Given the description of an element on the screen output the (x, y) to click on. 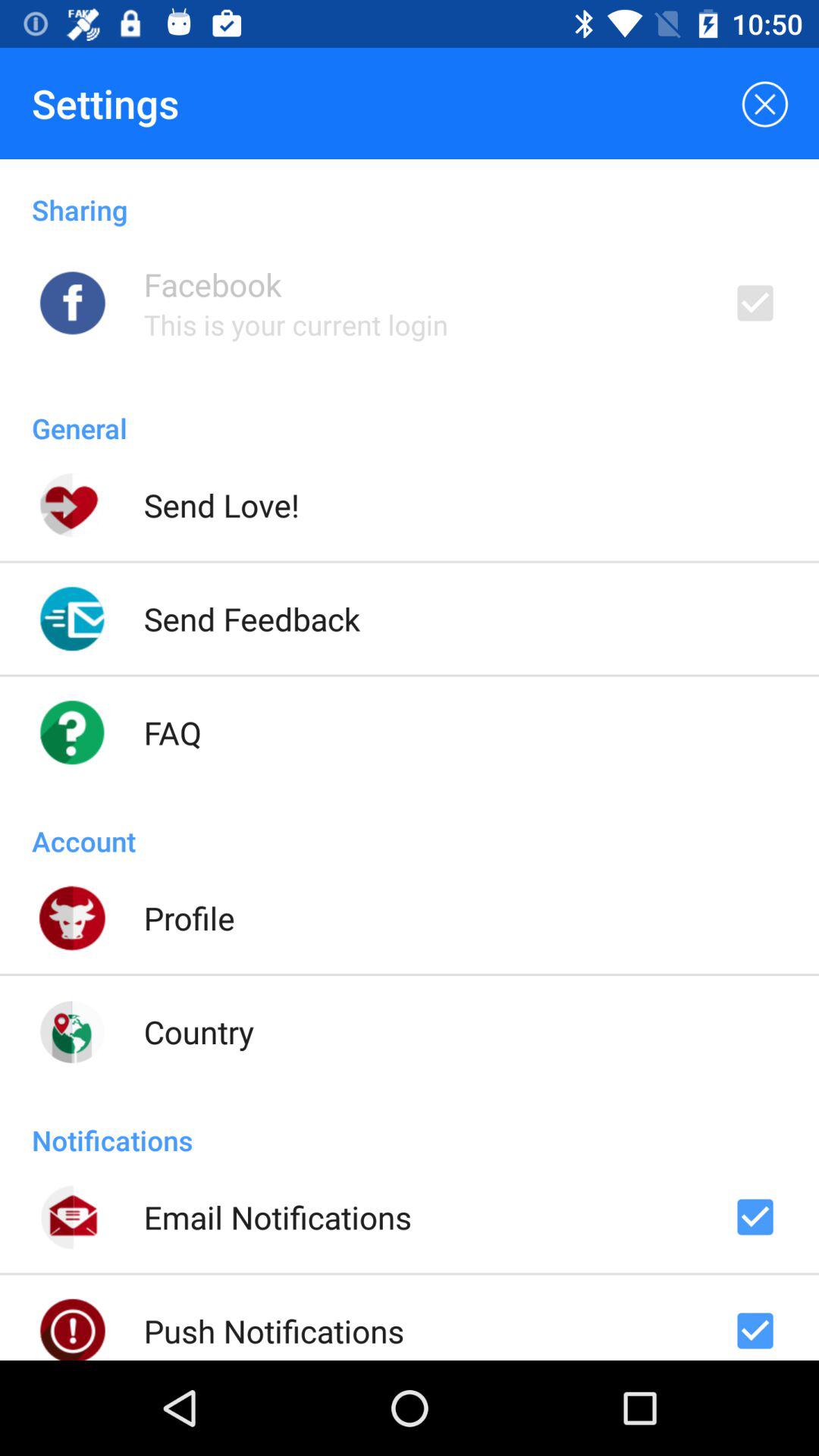
choose the item to the right of settings icon (763, 103)
